Given the description of an element on the screen output the (x, y) to click on. 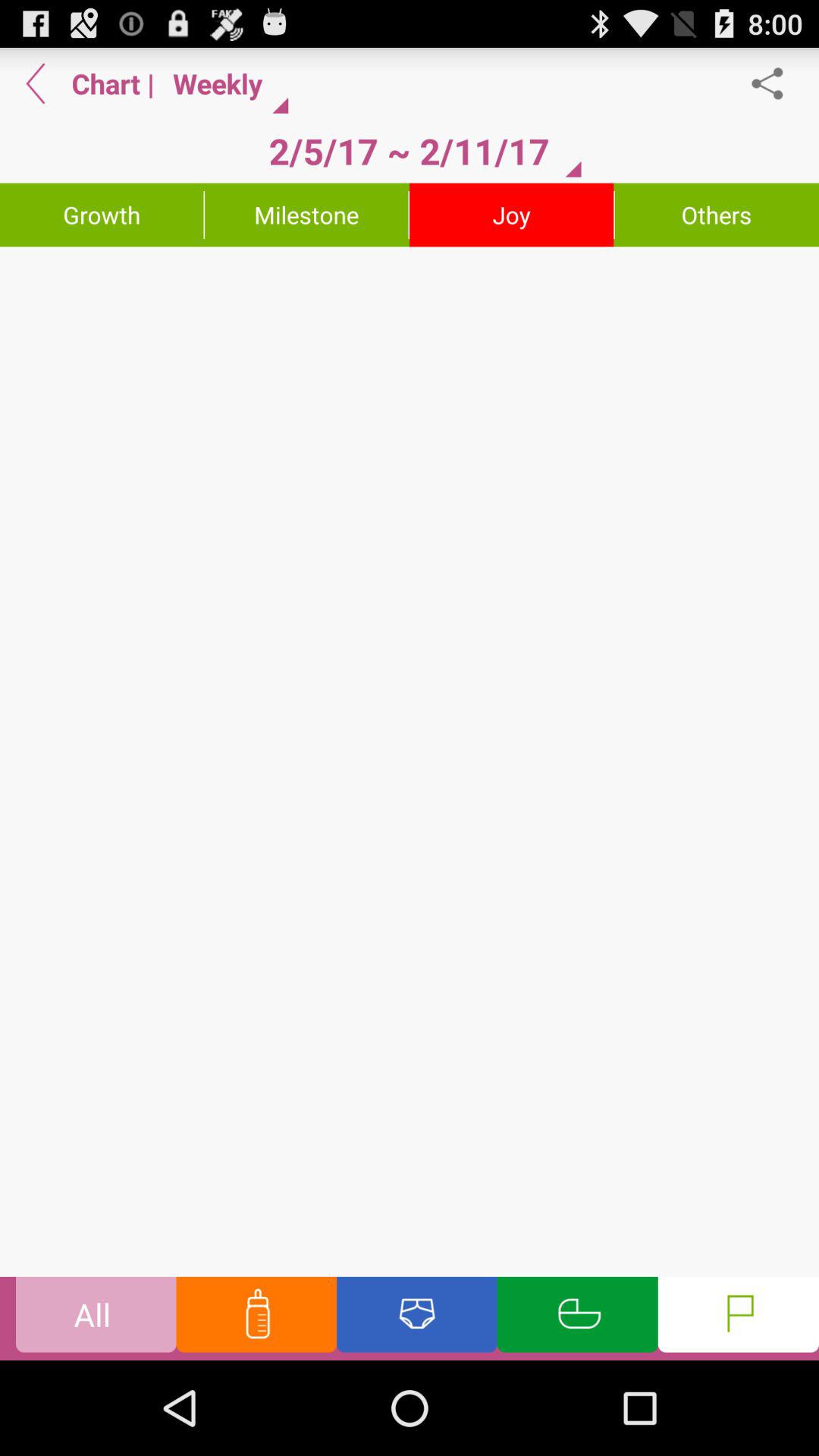
follow your sleep routine (577, 1318)
